Given the description of an element on the screen output the (x, y) to click on. 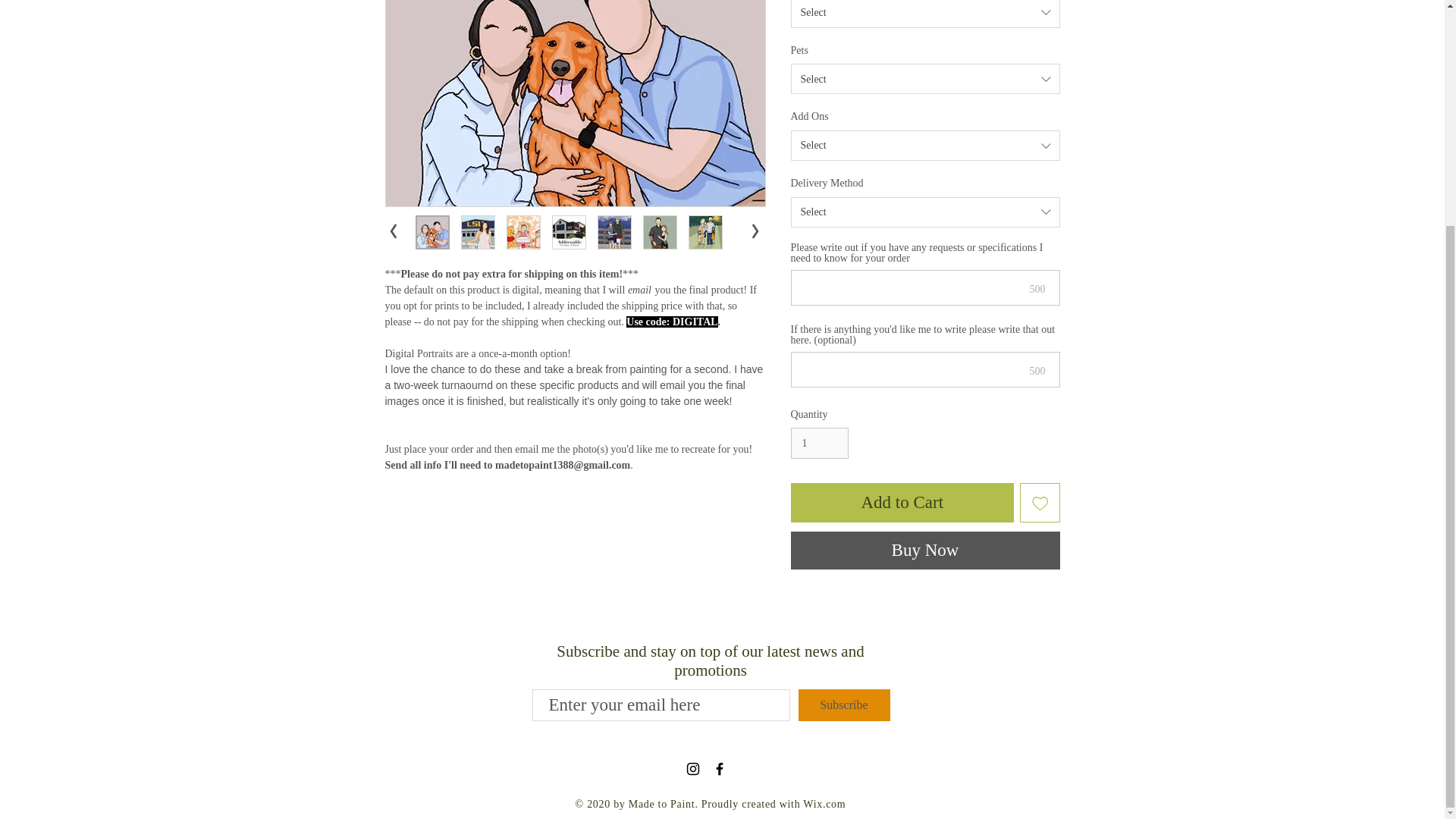
Select (924, 13)
Wix.com (824, 803)
Select (924, 212)
Select (924, 145)
Subscribe (843, 705)
Select (924, 78)
Buy Now (924, 550)
Add to Cart (901, 503)
1 (818, 442)
